Given the description of an element on the screen output the (x, y) to click on. 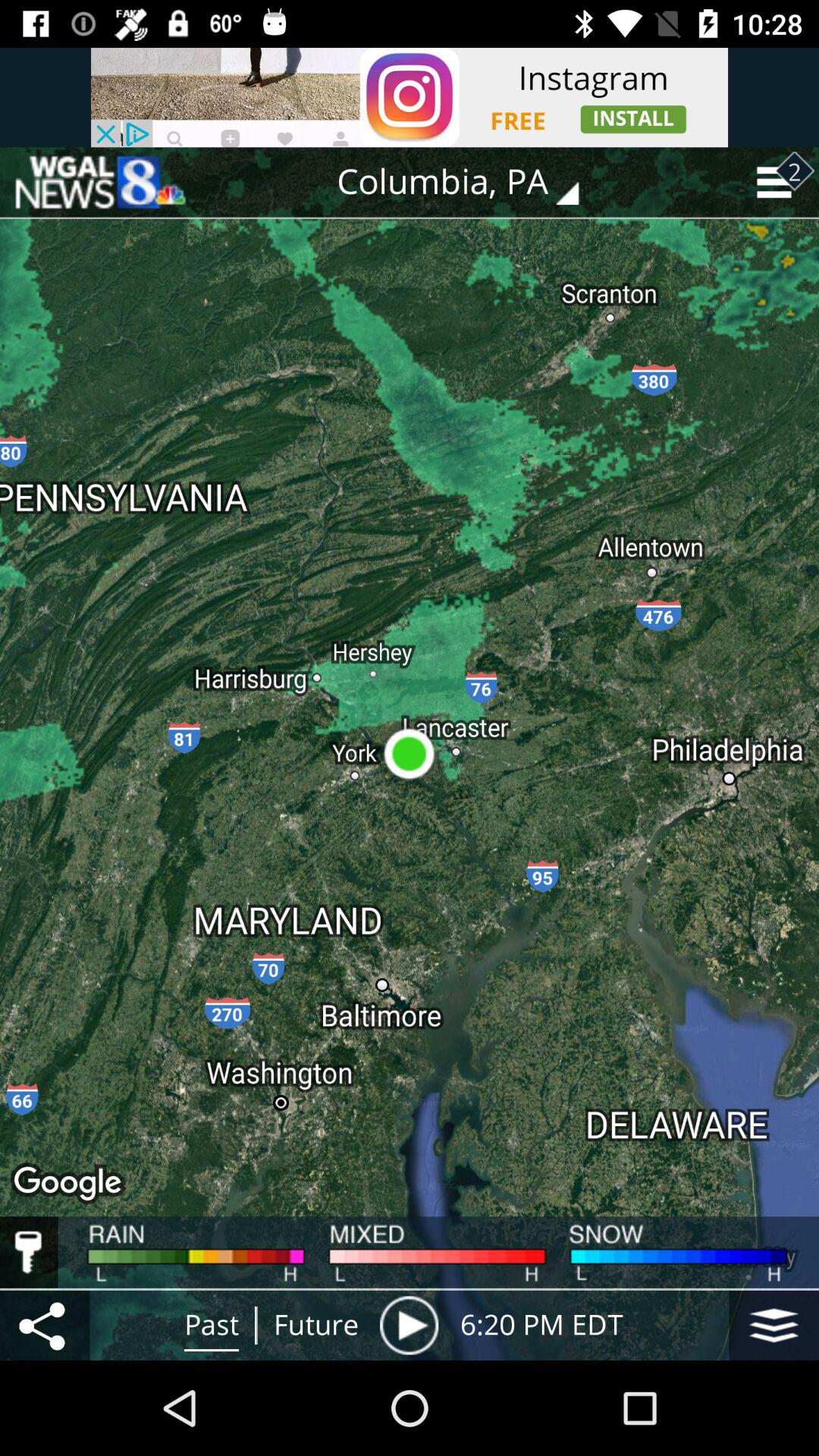
click the icon to the left of past icon (44, 1325)
